Given the description of an element on the screen output the (x, y) to click on. 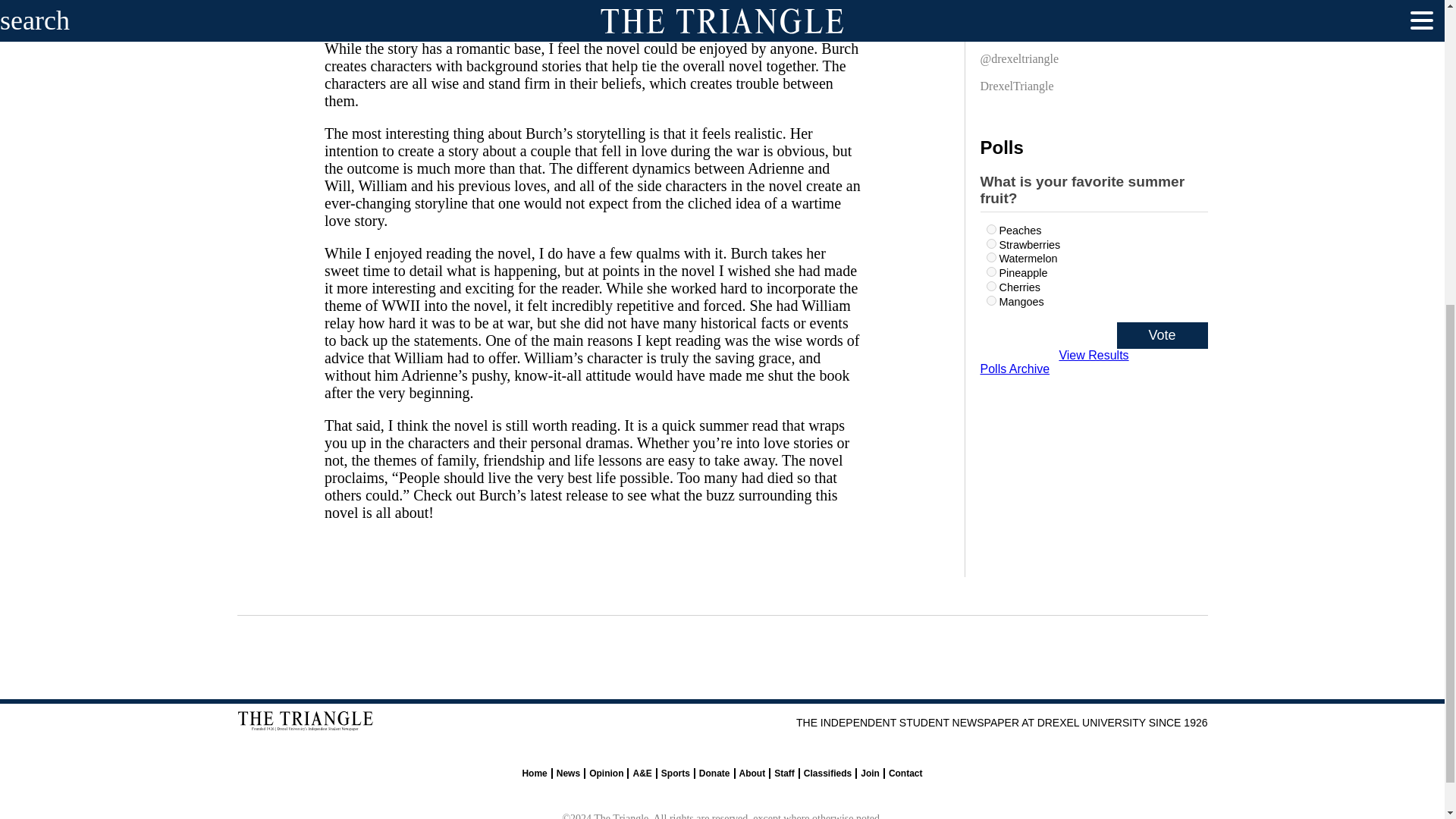
News (567, 773)
Drexel Triangle (1018, 8)
DrexelTriangle (1015, 89)
571 (990, 229)
Opinion (606, 773)
575 (990, 300)
576 (990, 271)
574 (990, 243)
572 (990, 257)
View Results (1093, 354)
573 (990, 286)
Home (534, 773)
Sports (675, 773)
View Results Of This Poll (1093, 354)
Vote (1161, 335)
